Given the description of an element on the screen output the (x, y) to click on. 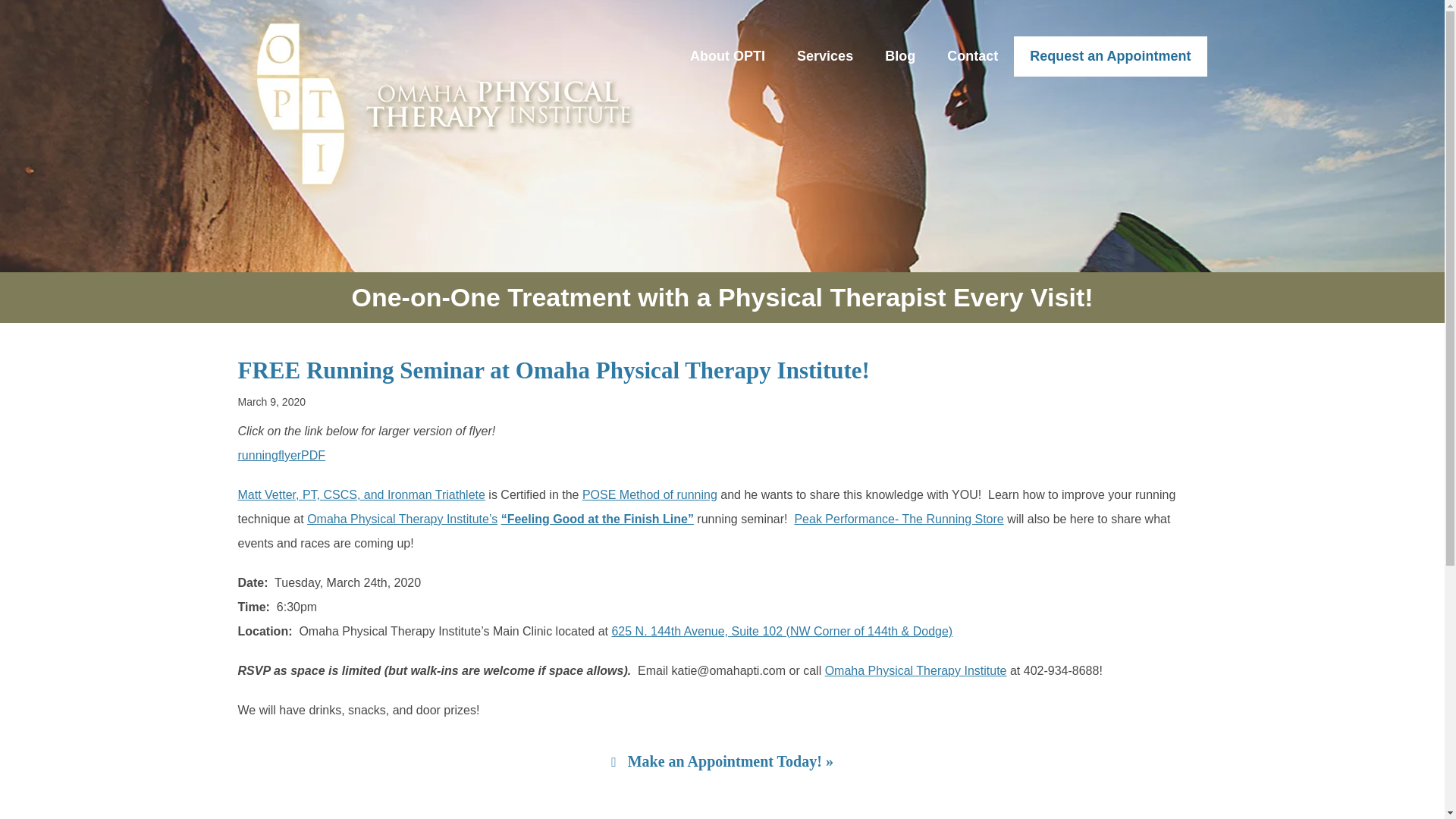
Services (824, 56)
About OPTI (727, 56)
Blog (900, 56)
